Given the description of an element on the screen output the (x, y) to click on. 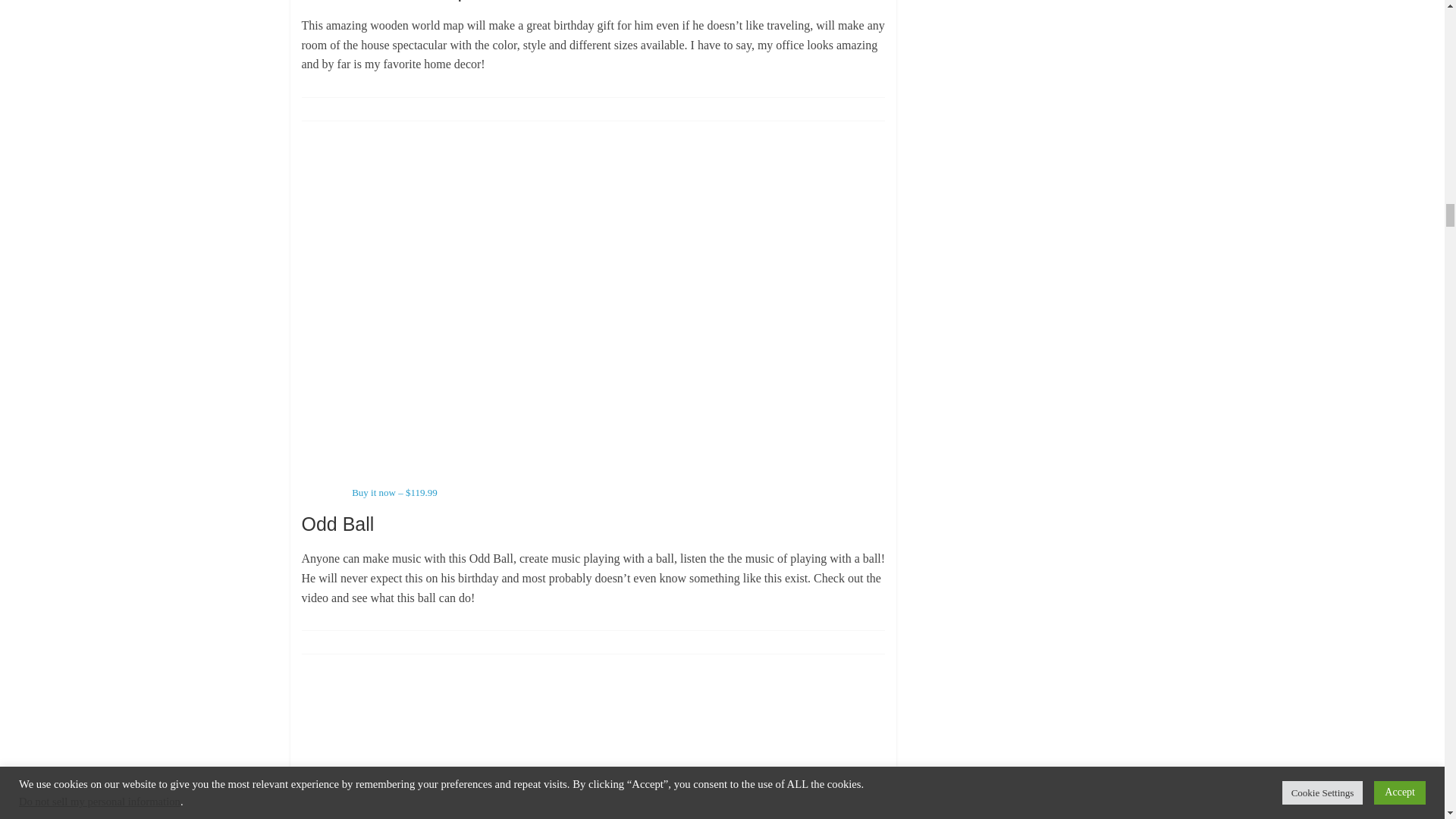
Play with Music - by ODD. (698, 248)
